Given the description of an element on the screen output the (x, y) to click on. 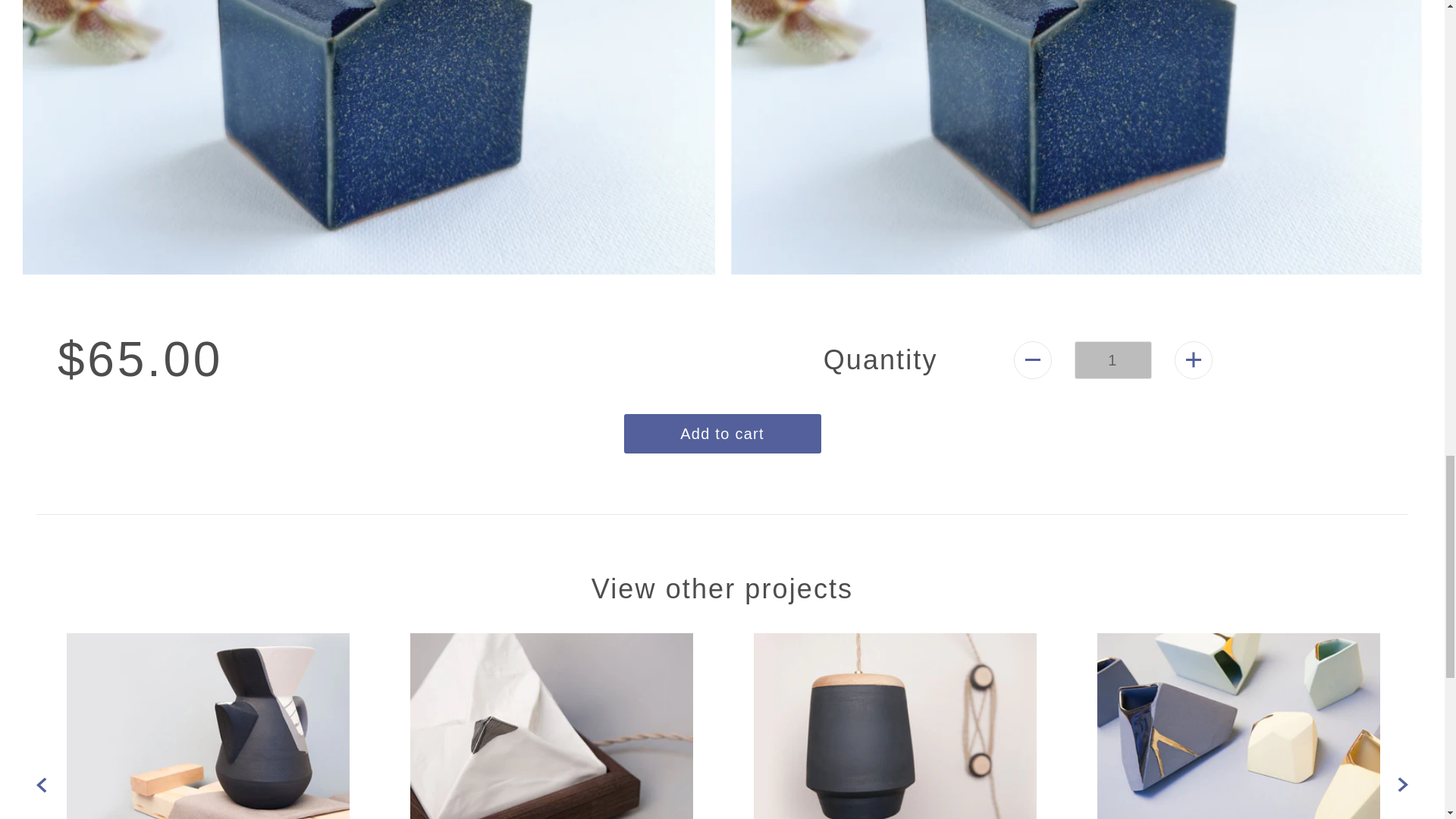
1 (1112, 360)
Add to cart (722, 433)
